Given the description of an element on the screen output the (x, y) to click on. 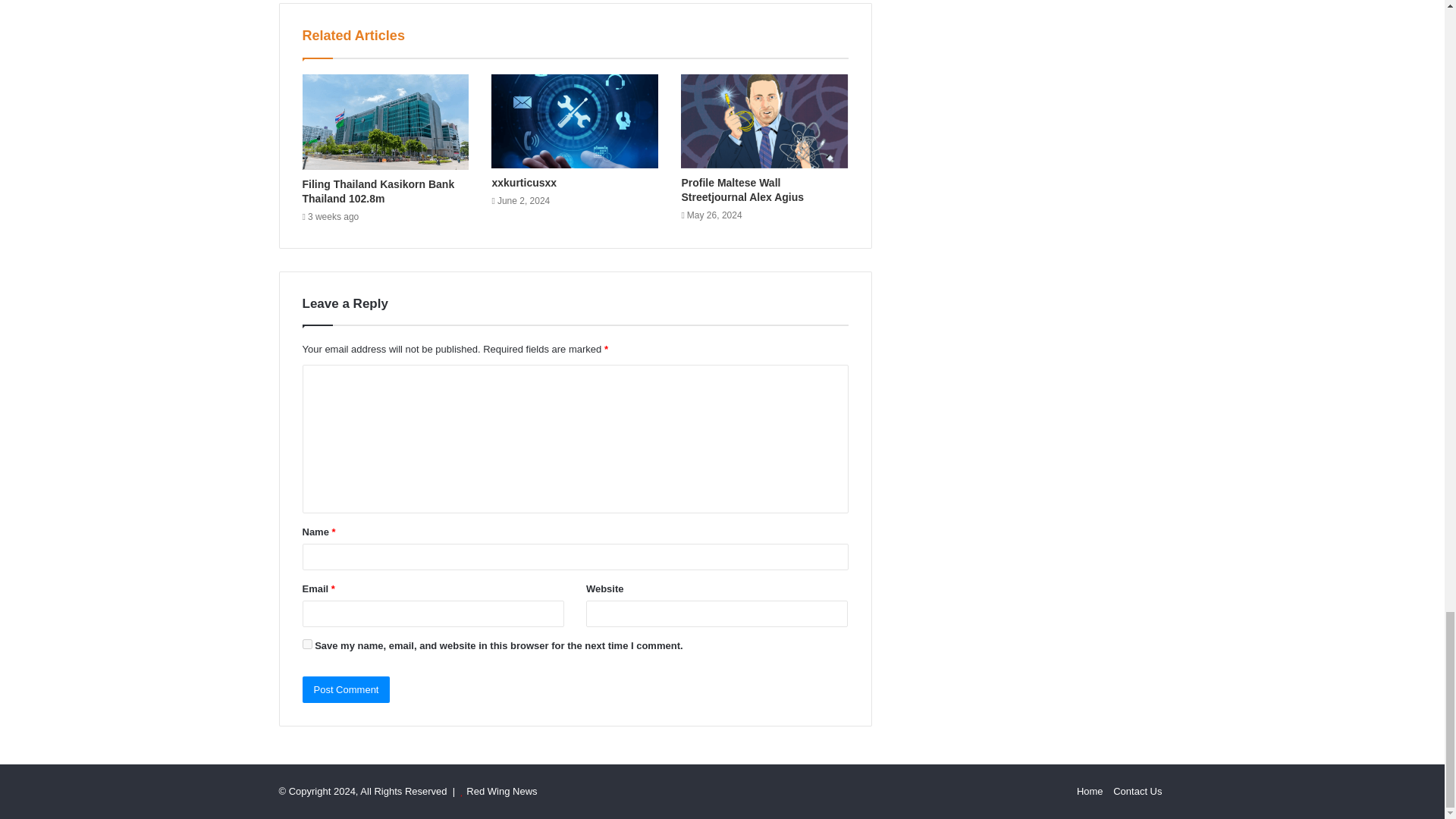
yes (306, 644)
Post Comment (345, 689)
